Given the description of an element on the screen output the (x, y) to click on. 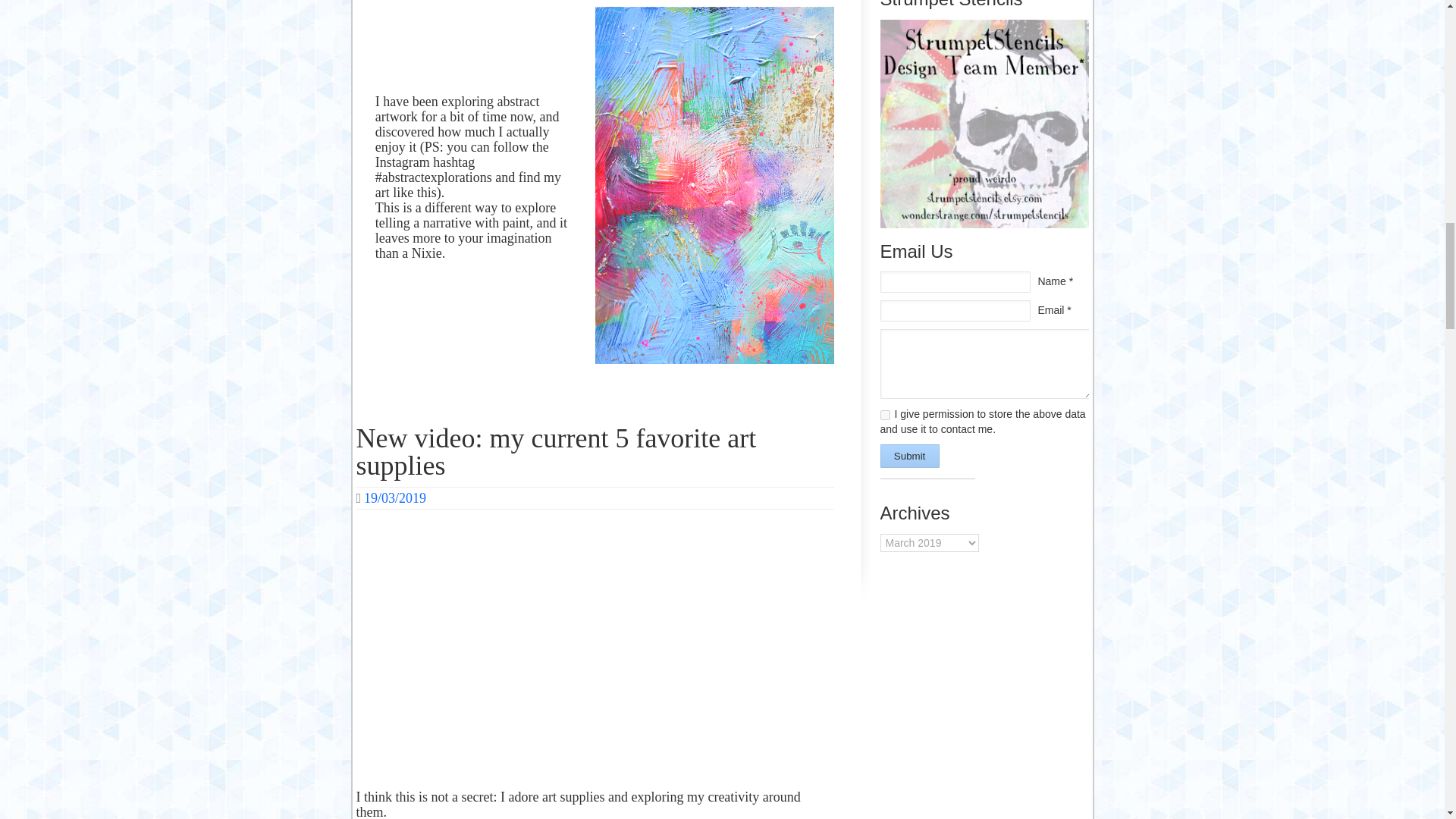
Art supplies junky Monday: March favorite art supplies (595, 650)
New video: my current 5 favorite art supplies (556, 451)
yes (884, 415)
